Given the description of an element on the screen output the (x, y) to click on. 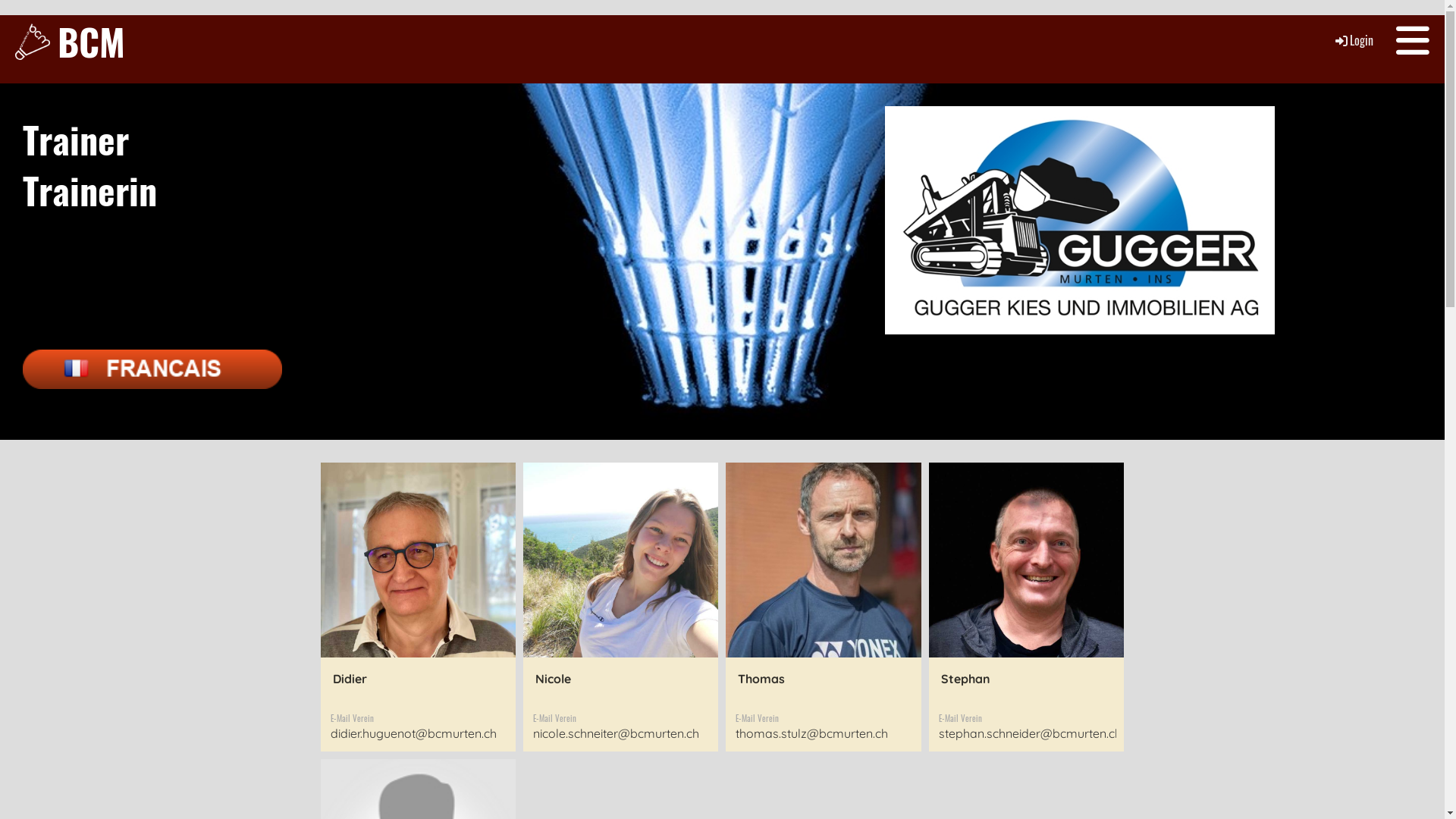
BCM Element type: text (91, 40)
didier.huguenot@bcmurten.ch Element type: text (413, 732)
nicole.schneiter@bcmurten.ch Element type: text (616, 732)
stephan.schneider@bcmurten.ch Element type: text (1029, 732)
thomas.stulz@bcmurten.ch Element type: text (811, 732)
Login Element type: text (1353, 40)
